Given the description of an element on the screen output the (x, y) to click on. 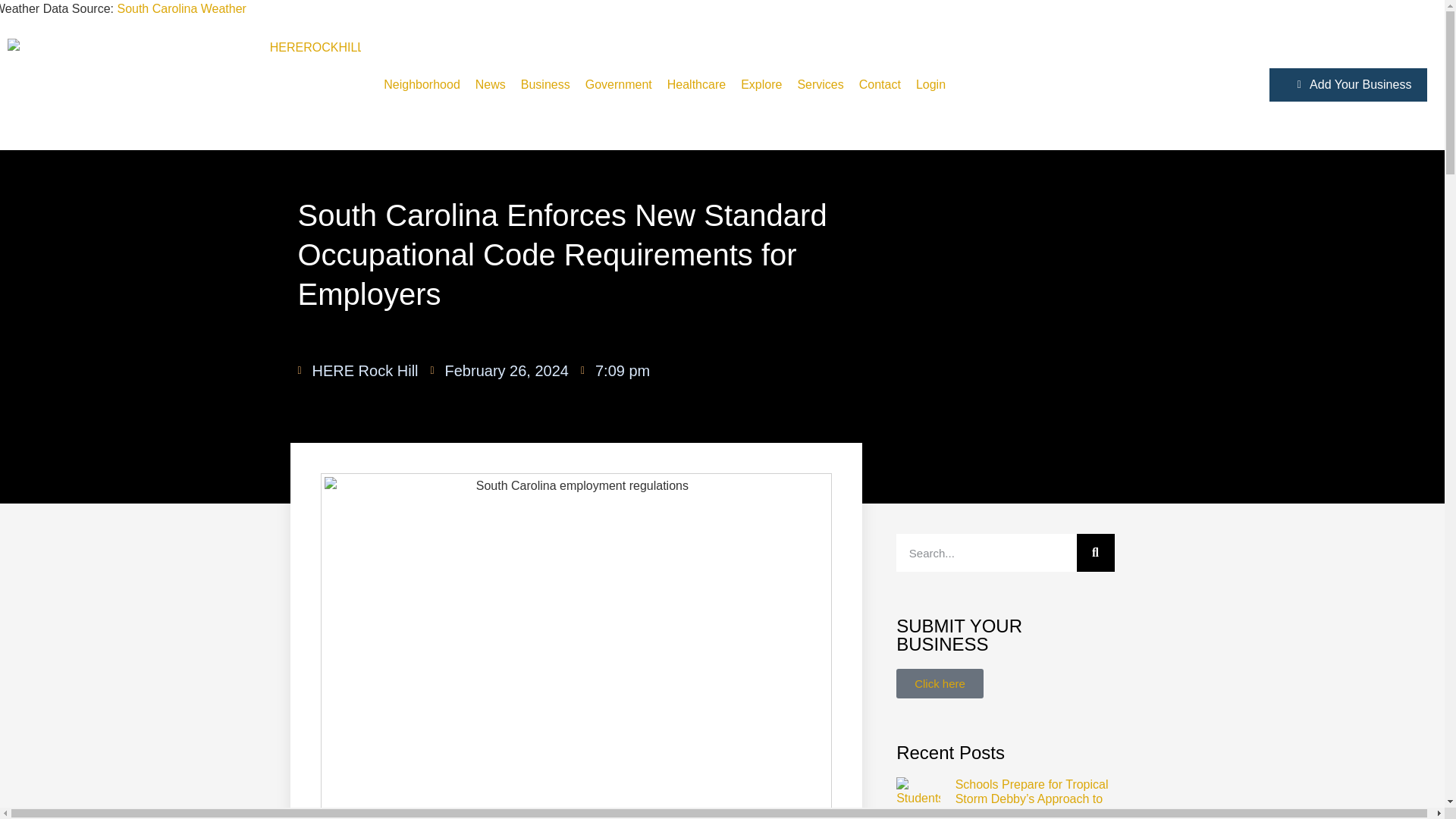
News (490, 84)
Healthcare (696, 84)
Explore (760, 84)
Services (820, 84)
Neighborhood (422, 84)
Government (618, 84)
Business (545, 84)
South Carolina Weather (181, 8)
